Given the description of an element on the screen output the (x, y) to click on. 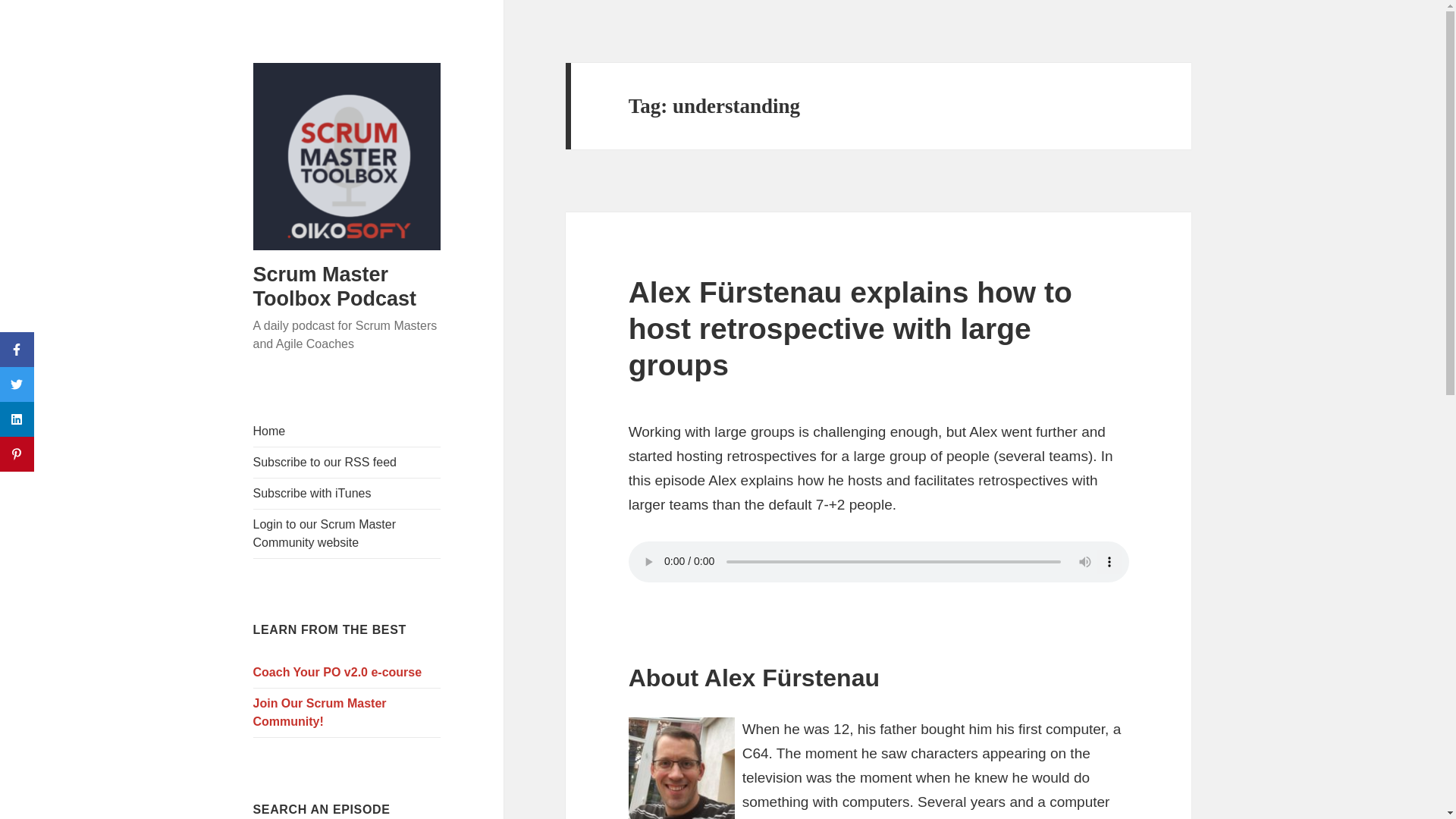
Scrum Master Toolbox Podcast (334, 286)
Subscribe to our RSS feed (347, 462)
Subscribe with iTunes (347, 493)
Home (347, 431)
Join Our Scrum Master Community! (347, 712)
Coach Your PO v2.0 e-course (347, 672)
Login to our Scrum Master Community website (347, 533)
